Given the description of an element on the screen output the (x, y) to click on. 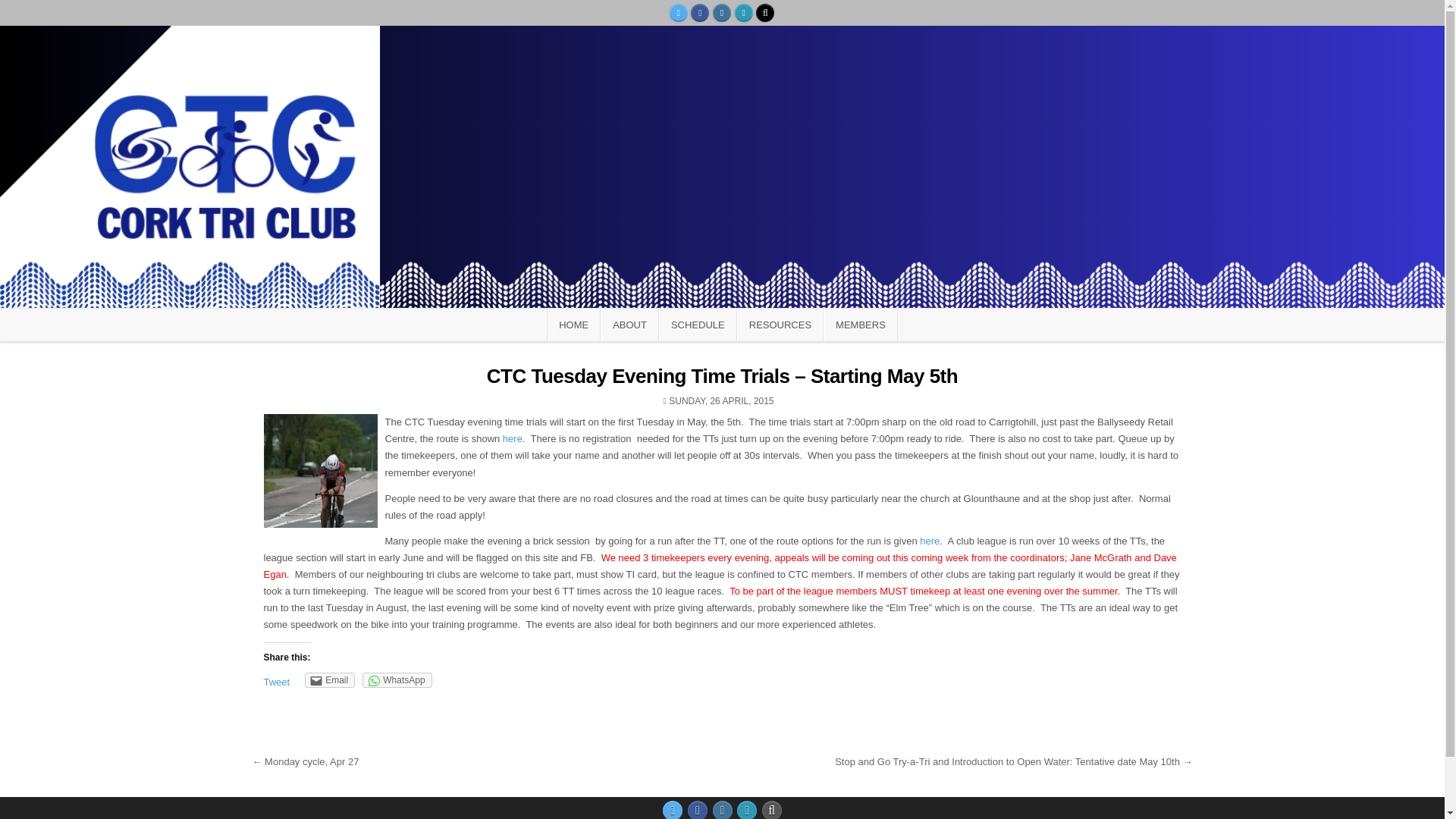
HOME (573, 324)
Instagram (722, 809)
Instagram (721, 13)
Search (764, 13)
Click to share on WhatsApp (396, 679)
Email Us (746, 809)
ABOUT (629, 324)
Facebook (697, 809)
Twitter (678, 13)
Twitter (672, 809)
